Given the description of an element on the screen output the (x, y) to click on. 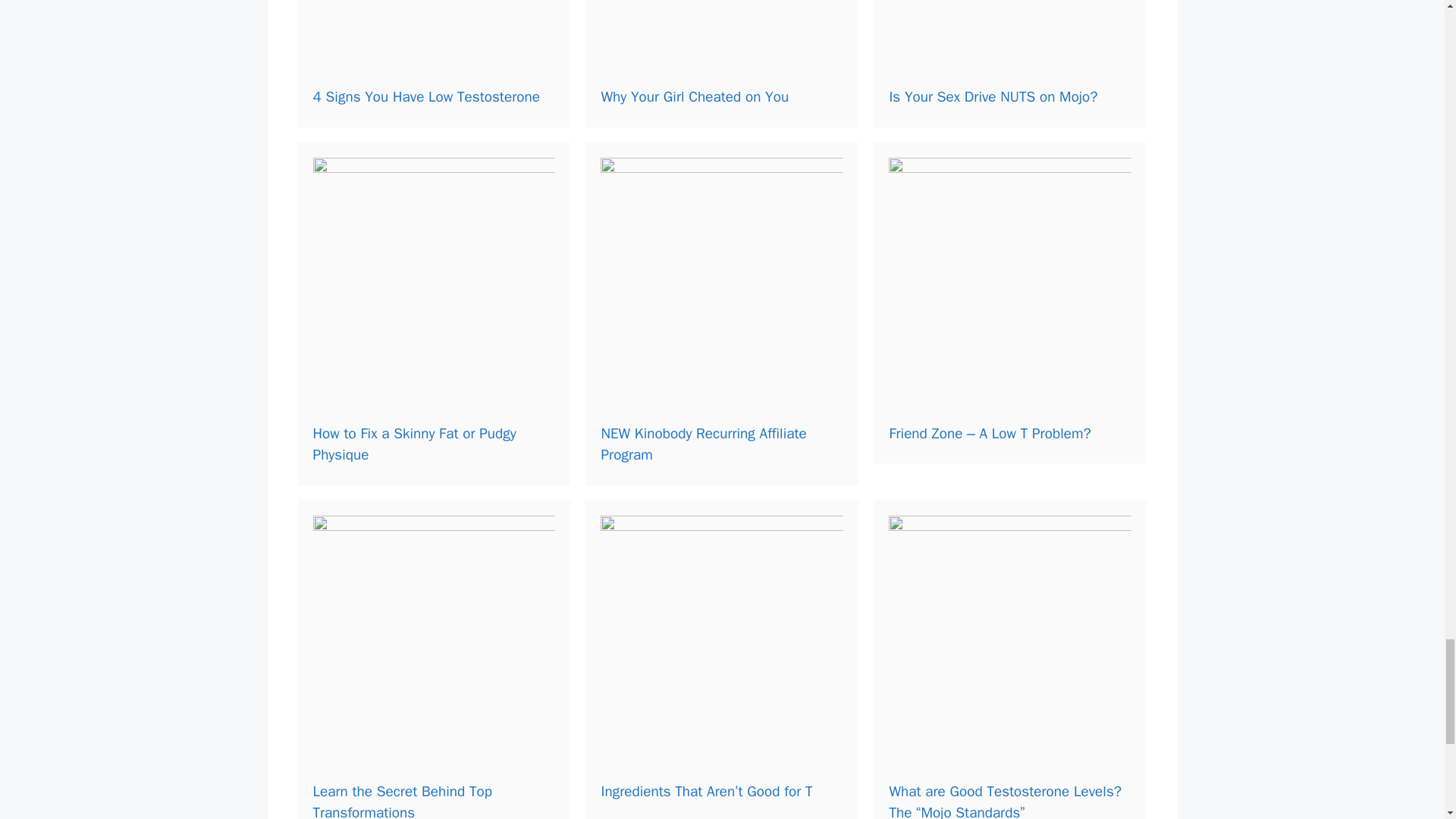
4 Signs You Have Low Testosterone (425, 96)
Is Your Sex Drive NUTS on Mojo? (992, 96)
Why Your Girl Cheated on You (694, 96)
NEW Kinobody Recurring Affiliate Program (702, 445)
Learn the Secret Behind Top Transformations (402, 800)
How to Fix a Skinny Fat or Pudgy Physique (414, 445)
